Given the description of an element on the screen output the (x, y) to click on. 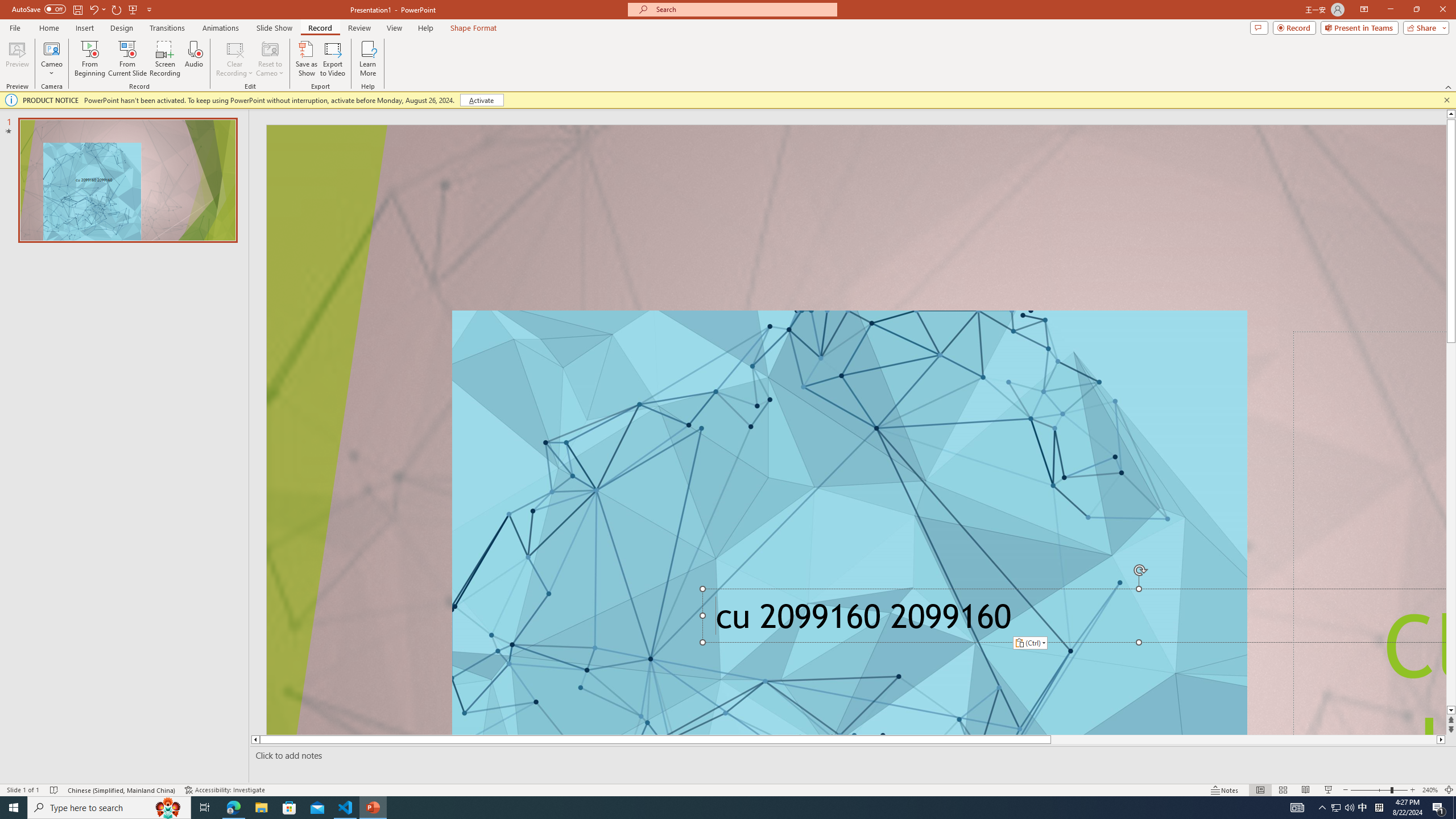
Zoom 240% (1430, 790)
Activate (481, 100)
